Given the description of an element on the screen output the (x, y) to click on. 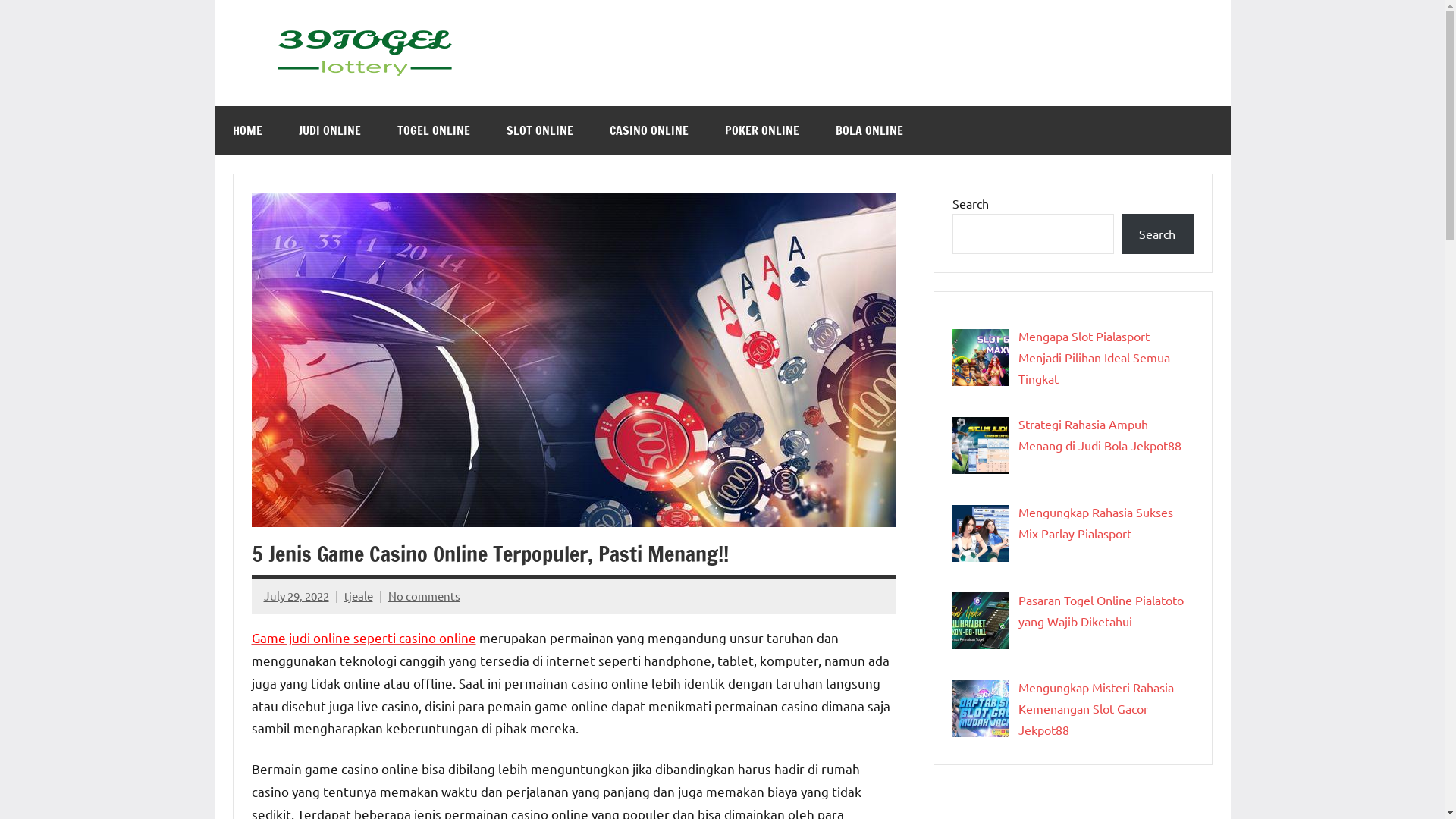
Strategi Rahasia Ampuh Menang di Judi Bola Jekpot88 Element type: text (1098, 434)
No comments Element type: text (424, 595)
tjeale Element type: text (358, 595)
Game judi online seperti casino online Element type: text (363, 637)
CASINO ONLINE Element type: text (648, 130)
Mengungkap Rahasia Sukses Mix Parlay Pialasport Element type: text (1094, 522)
TOGEL ONLINE Element type: text (433, 130)
Mengapa Slot Pialasport Menjadi Pilihan Ideal Semua Tingkat Element type: text (1093, 356)
POKER ONLINE Element type: text (761, 130)
BOLA ONLINE Element type: text (869, 130)
July 29, 2022 Element type: text (296, 595)
SLOT ONLINE Element type: text (539, 130)
Pasaran Togel Online Pialatoto yang Wajib Diketahui Element type: text (1100, 610)
Search Element type: text (1157, 233)
HOME Element type: text (246, 130)
JUDI ONLINE Element type: text (329, 130)
39Togel Element type: text (542, 72)
Mengungkap Misteri Rahasia Kemenangan Slot Gacor Jekpot88 Element type: text (1095, 708)
